Given the description of an element on the screen output the (x, y) to click on. 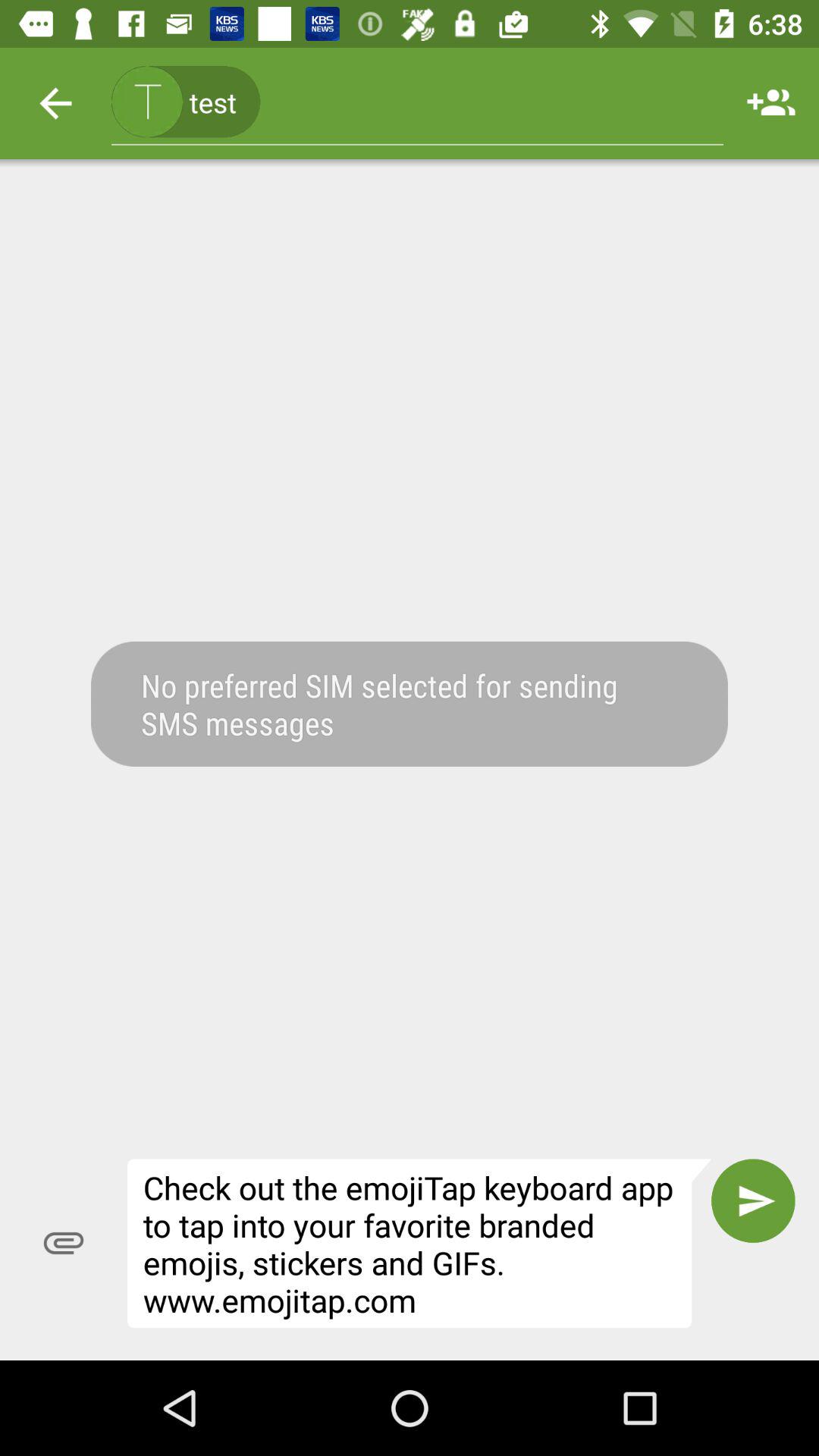
launch the icon next to the (415) 123-4567,  item (55, 103)
